Given the description of an element on the screen output the (x, y) to click on. 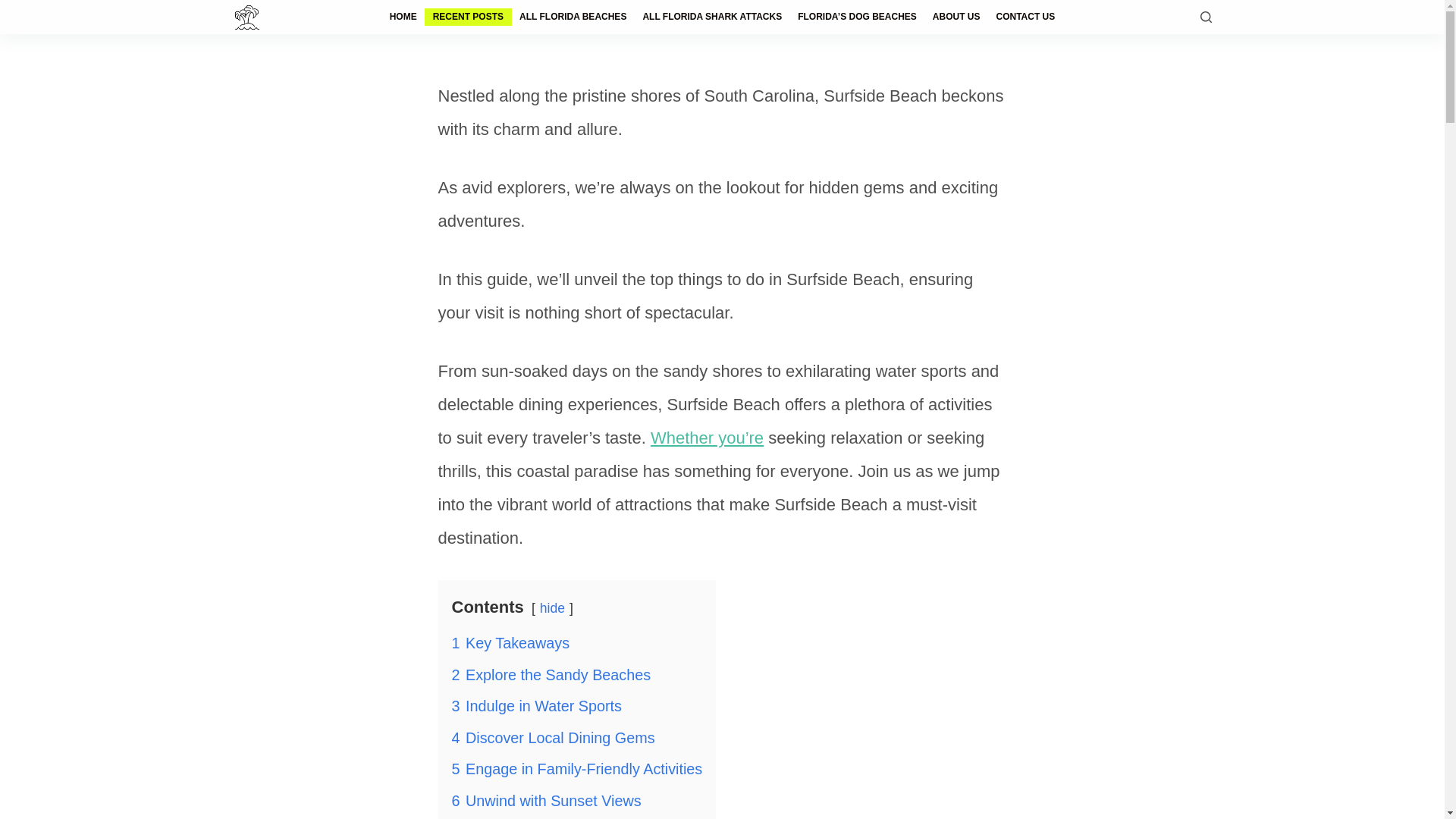
hide (552, 607)
4 Discover Local Dining Gems (553, 737)
ALL FLORIDA BEACHES (573, 16)
1 Key Takeaways (510, 642)
HOME (403, 16)
2 Explore the Sandy Beaches (550, 674)
5 Engage in Family-Friendly Activities (577, 768)
ALL FLORIDA SHARK ATTACKS (712, 16)
Skip to content (15, 7)
6 Unwind with Sunset Views (546, 800)
RECENT POSTS (468, 16)
3 Indulge in Water Sports (537, 705)
CONTACT US (1025, 16)
ABOUT US (956, 16)
